Given the description of an element on the screen output the (x, y) to click on. 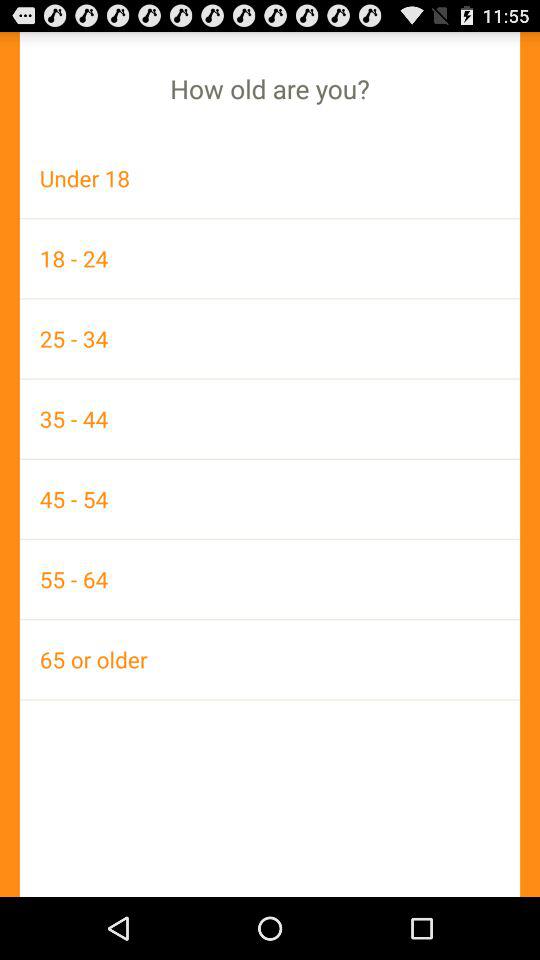
launch the 65 or older item (269, 659)
